Given the description of an element on the screen output the (x, y) to click on. 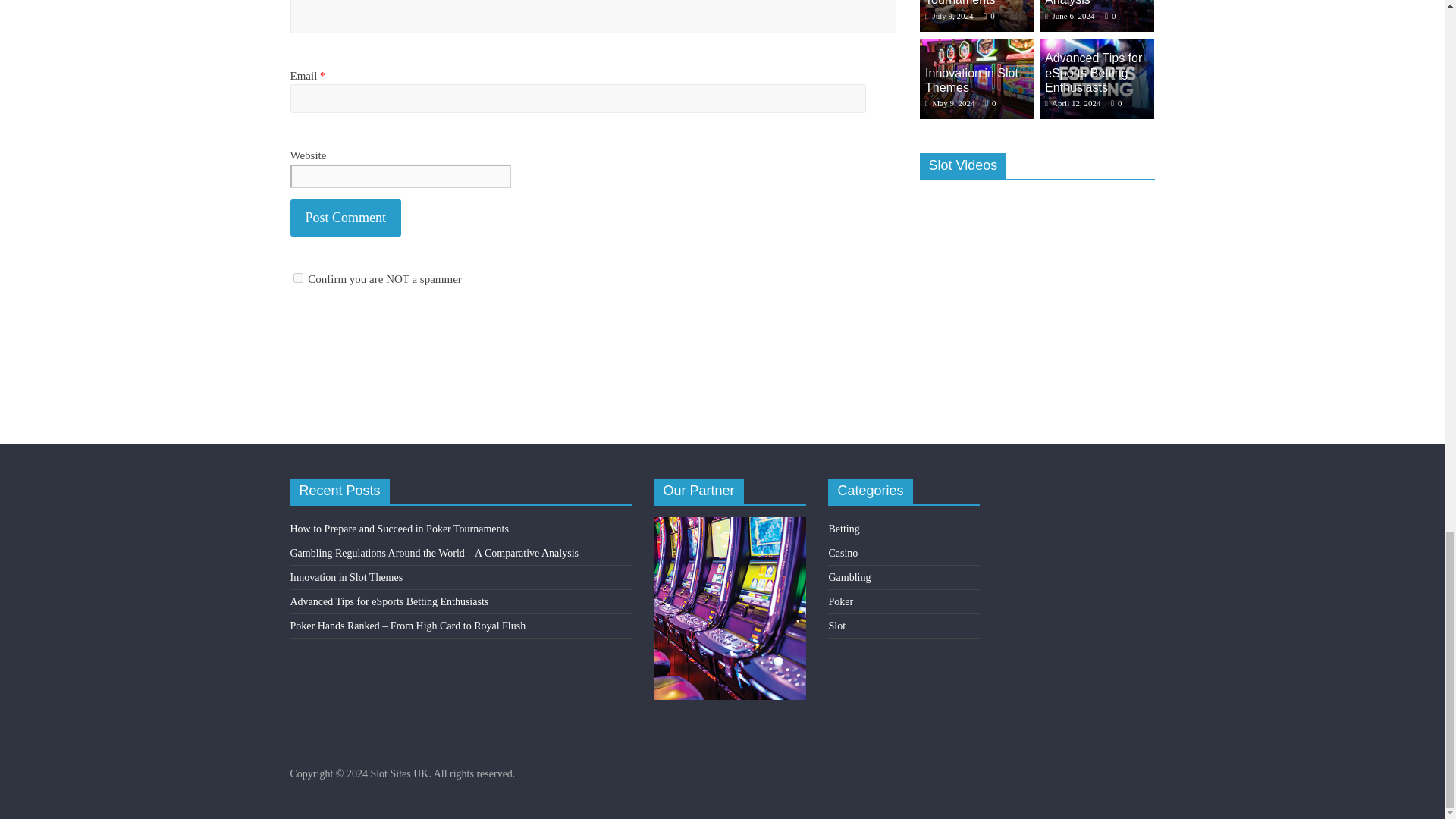
7:44 am (949, 15)
Innovation in Slot Themes (970, 80)
Innovation in Slot Themes (975, 78)
June 6, 2024 (1069, 15)
Innovation in Slot Themes (970, 80)
Innovation in Slot Themes (975, 47)
Post Comment (345, 217)
How to Prepare and Succeed in Poker Tournaments (975, 15)
How to Prepare and Succeed in Poker Tournaments (978, 2)
on (297, 277)
Post Comment (345, 217)
7:40 am (1069, 15)
May 9, 2024 (949, 102)
July 9, 2024 (949, 15)
How to Prepare and Succeed in Poker Tournaments (978, 2)
